Given the description of an element on the screen output the (x, y) to click on. 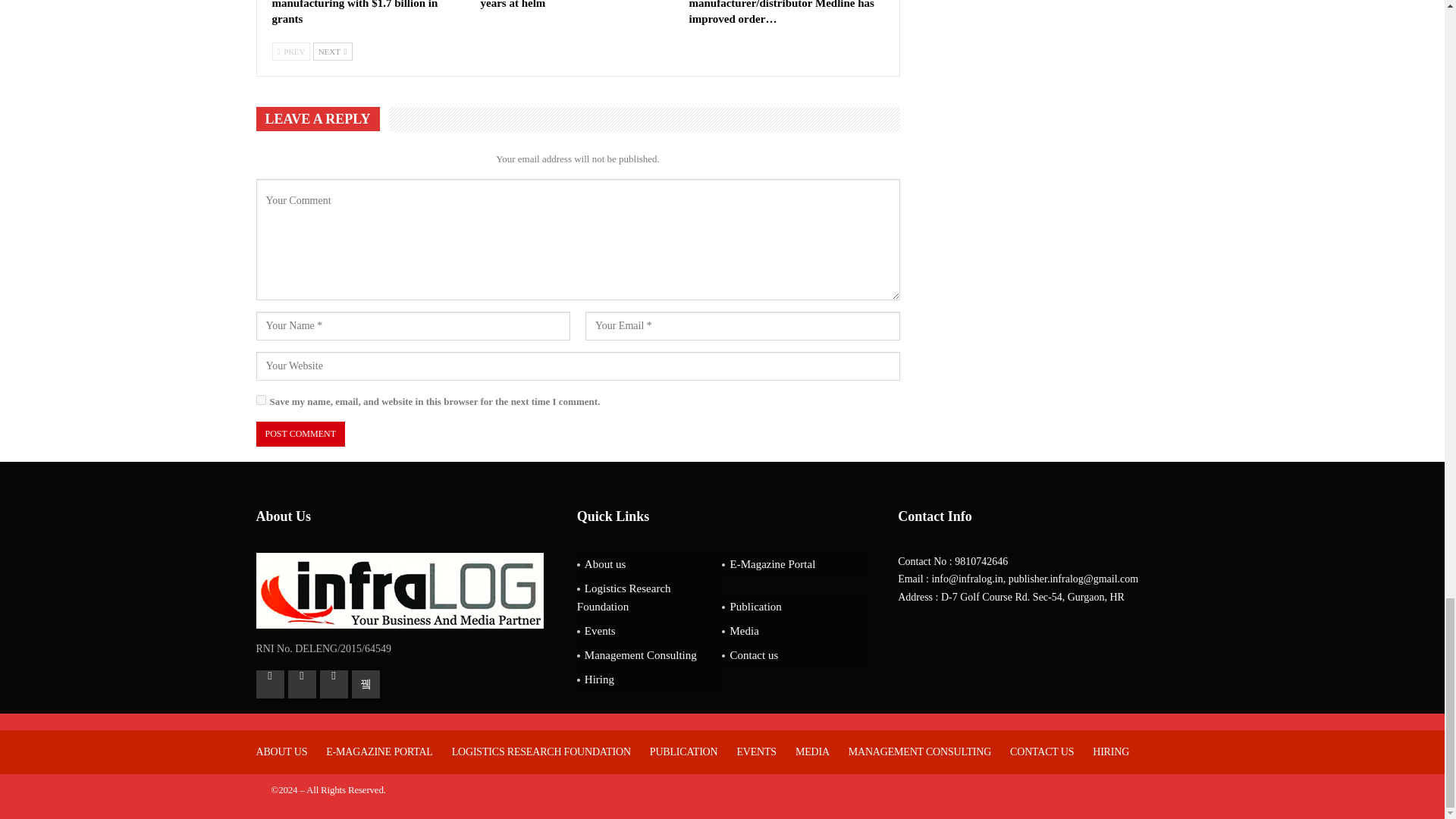
Post Comment (300, 433)
IANA chief Casey to retire after 27 years at helm (563, 4)
yes (261, 399)
